Given the description of an element on the screen output the (x, y) to click on. 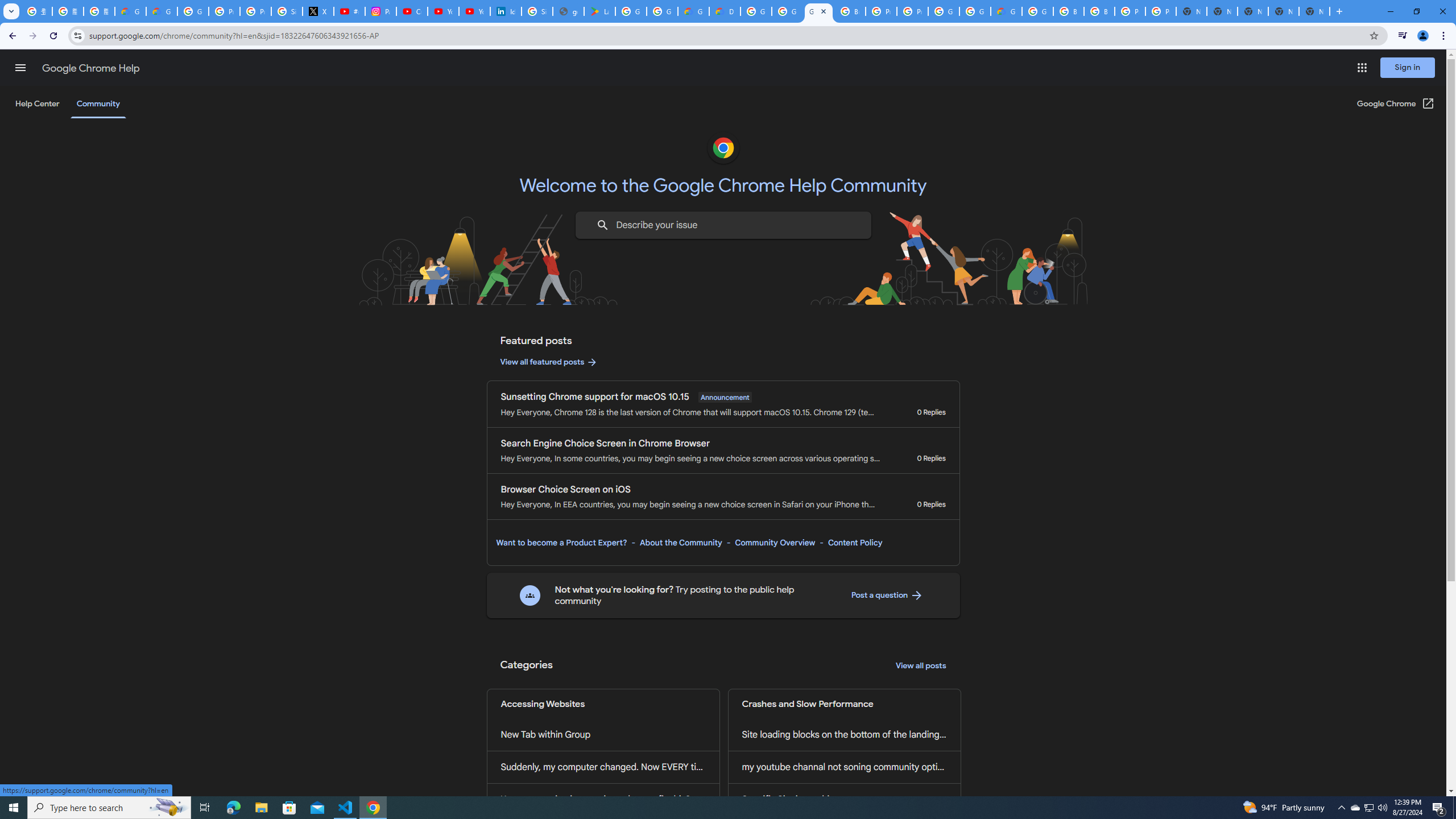
Google Cloud Platform (756, 11)
Google Cloud Privacy Notice (130, 11)
New Tab (1314, 11)
View all posts (920, 665)
